Given the description of an element on the screen output the (x, y) to click on. 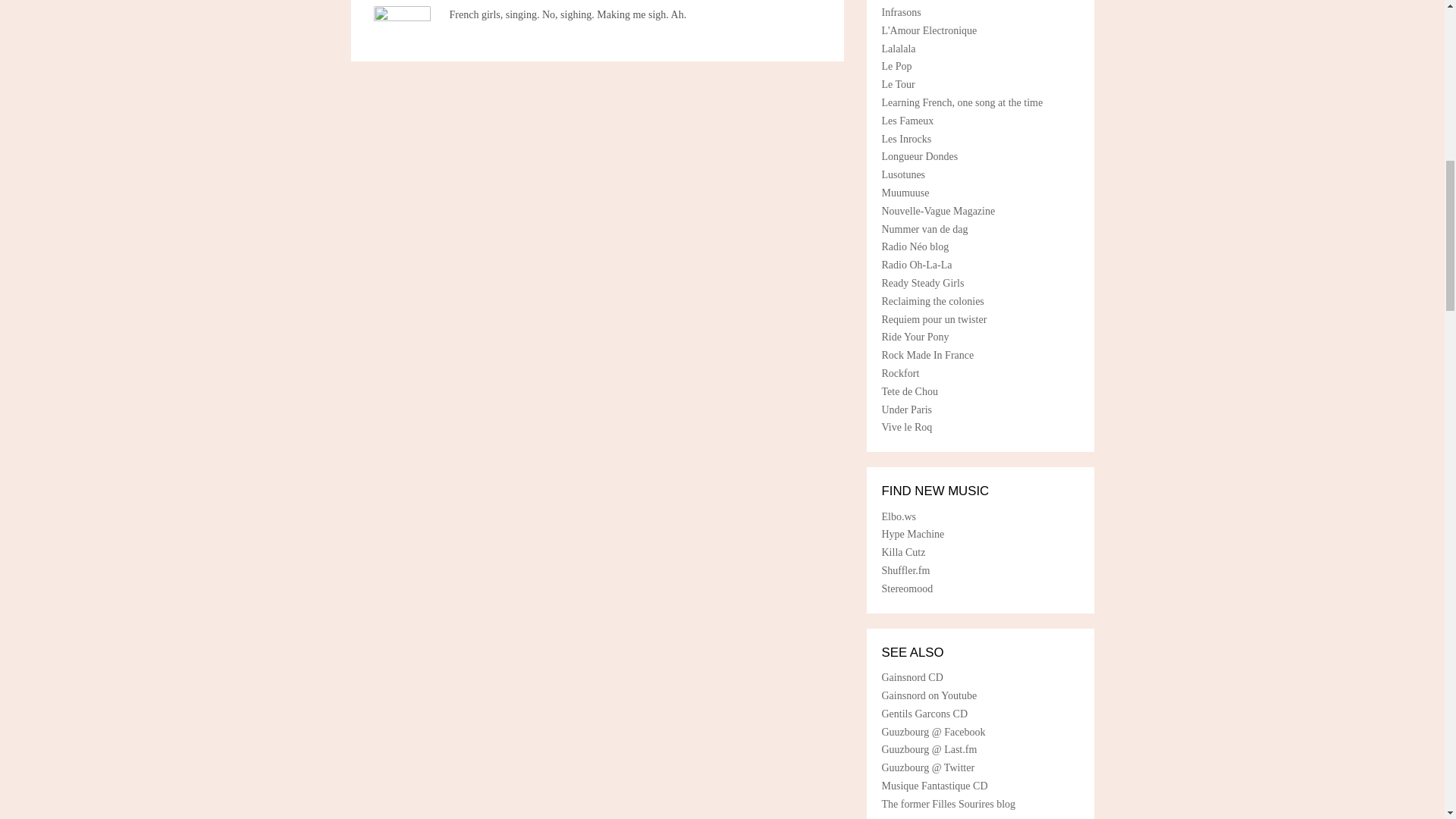
Infrasons (900, 12)
Online record store in Amsterdam, sells Gainsnord-7inches (902, 552)
Music in Portugueuse, great blog (902, 174)
Le Tour (897, 84)
Le Pop (895, 66)
Best Serge Gainsbourg site in the world (908, 391)
L'Amour Electronique (928, 30)
Lalalala (897, 48)
